Given the description of an element on the screen output the (x, y) to click on. 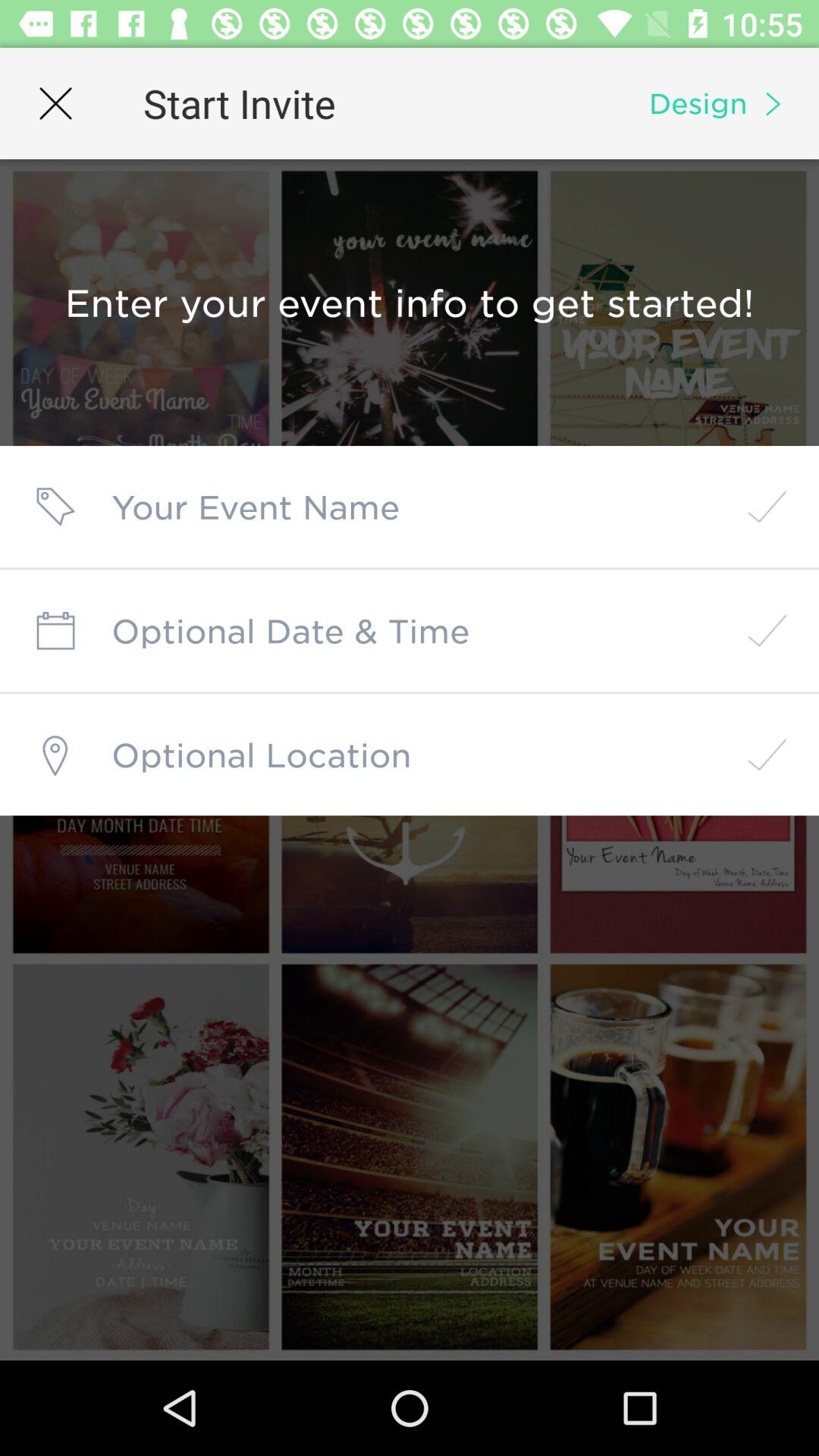
open the icon above the enter your event (55, 103)
